Given the description of an element on the screen output the (x, y) to click on. 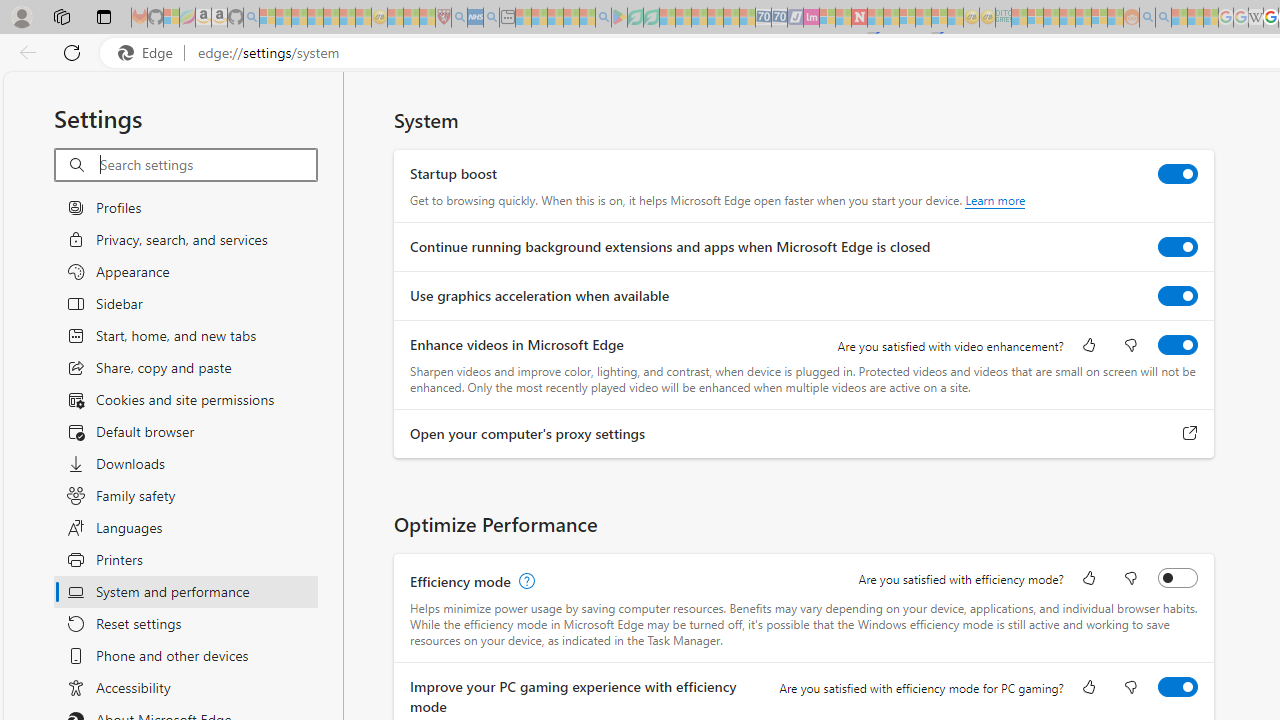
Use graphics acceleration when available (1178, 295)
Kinda Frugal - MSN - Sleeping (1083, 17)
MSNBC - MSN - Sleeping (1019, 17)
